Given the description of an element on the screen output the (x, y) to click on. 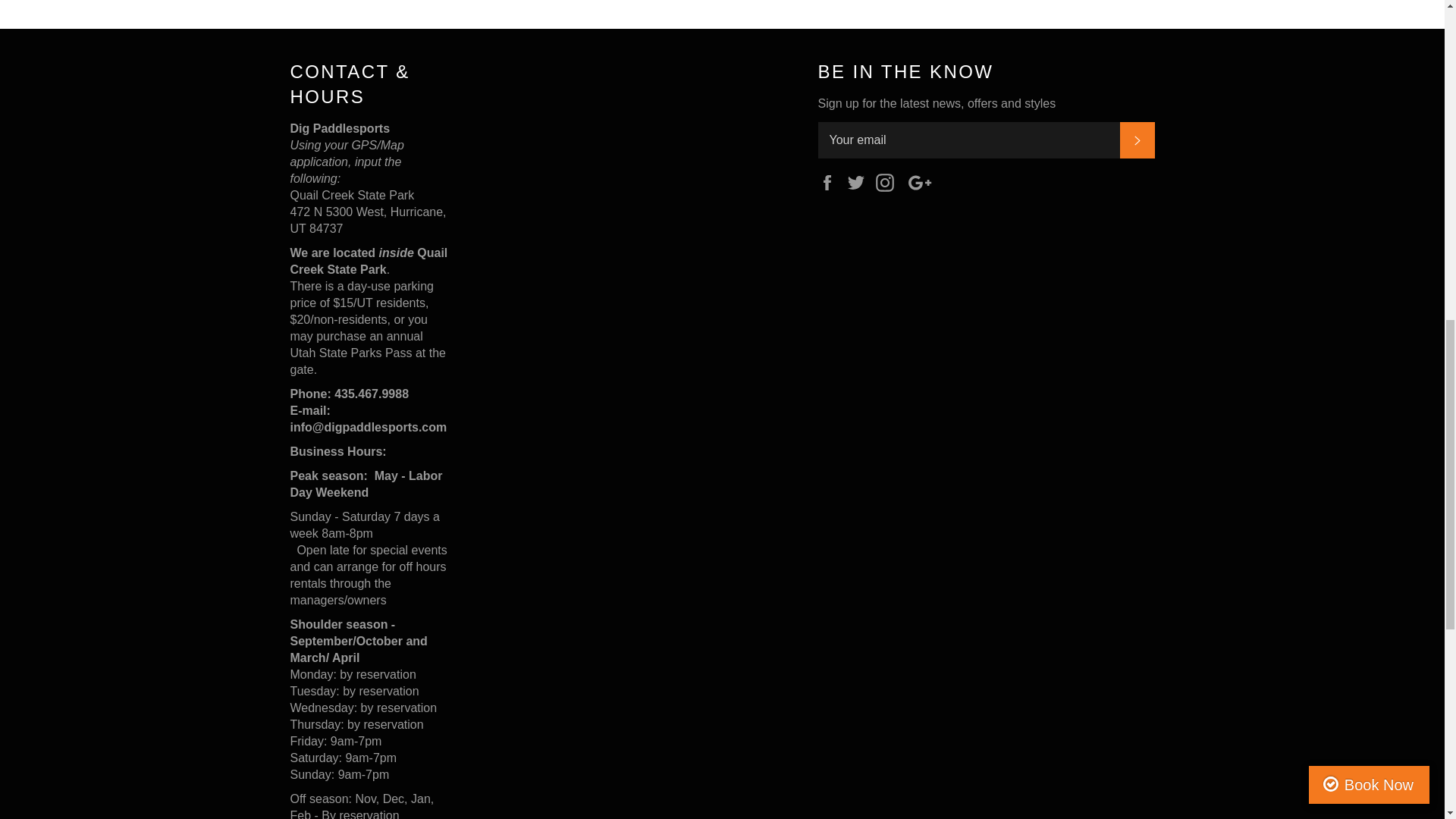
Dig Paddlesports on Instagram (888, 181)
Dig Paddlesports on Twitter (859, 181)
Dig Paddlesports on Facebook (829, 181)
FareHarbor (1342, 64)
Dig Paddlesports on Google Plus (923, 181)
